Given the description of an element on the screen output the (x, y) to click on. 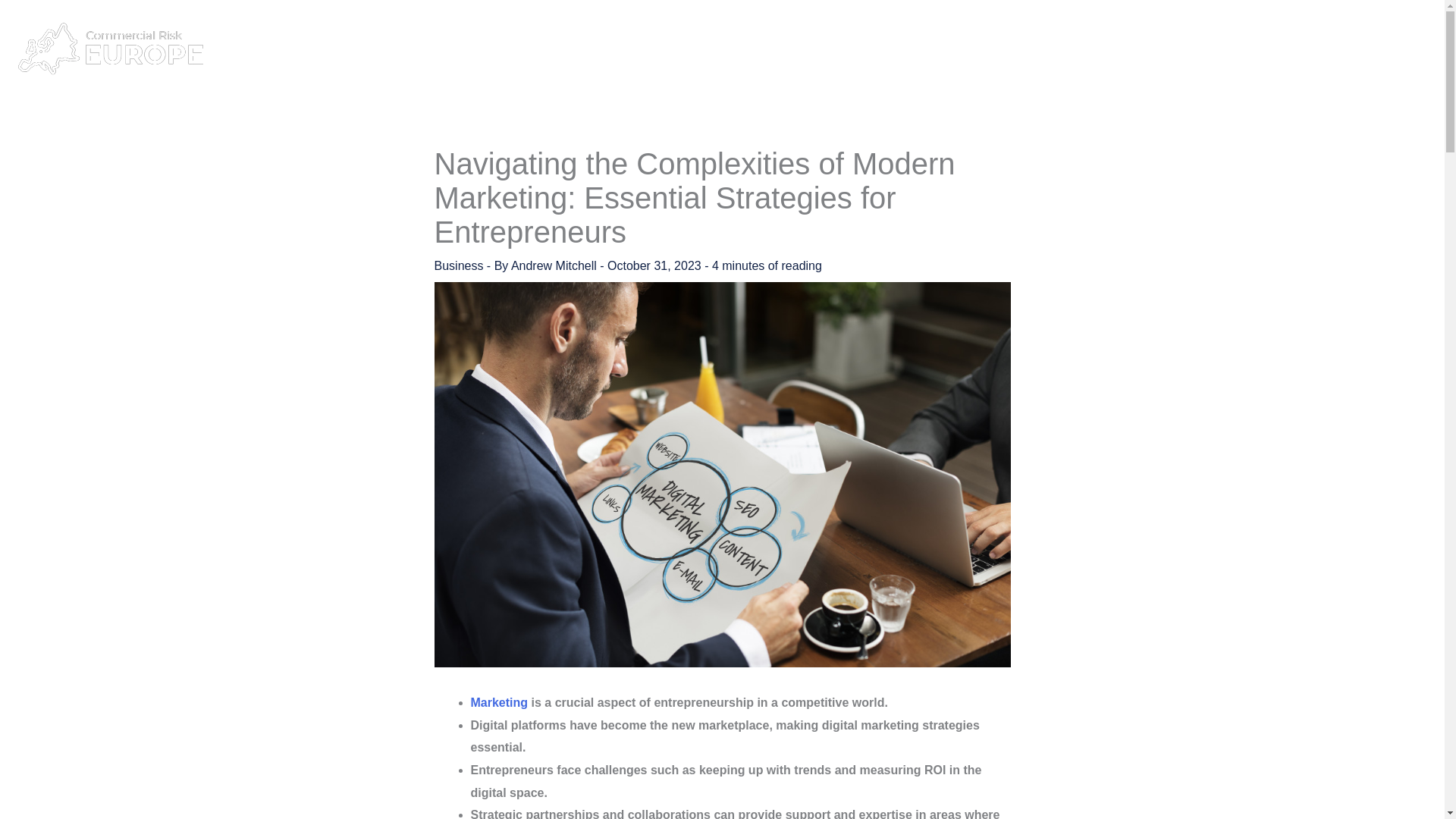
Business Legalities (1115, 49)
International Growth (1246, 49)
Business (458, 265)
View all posts by Andrew Mitchell (555, 265)
Technology (1356, 49)
Marketing (498, 702)
Andrew Mitchell (555, 265)
Business (1014, 49)
